Given the description of an element on the screen output the (x, y) to click on. 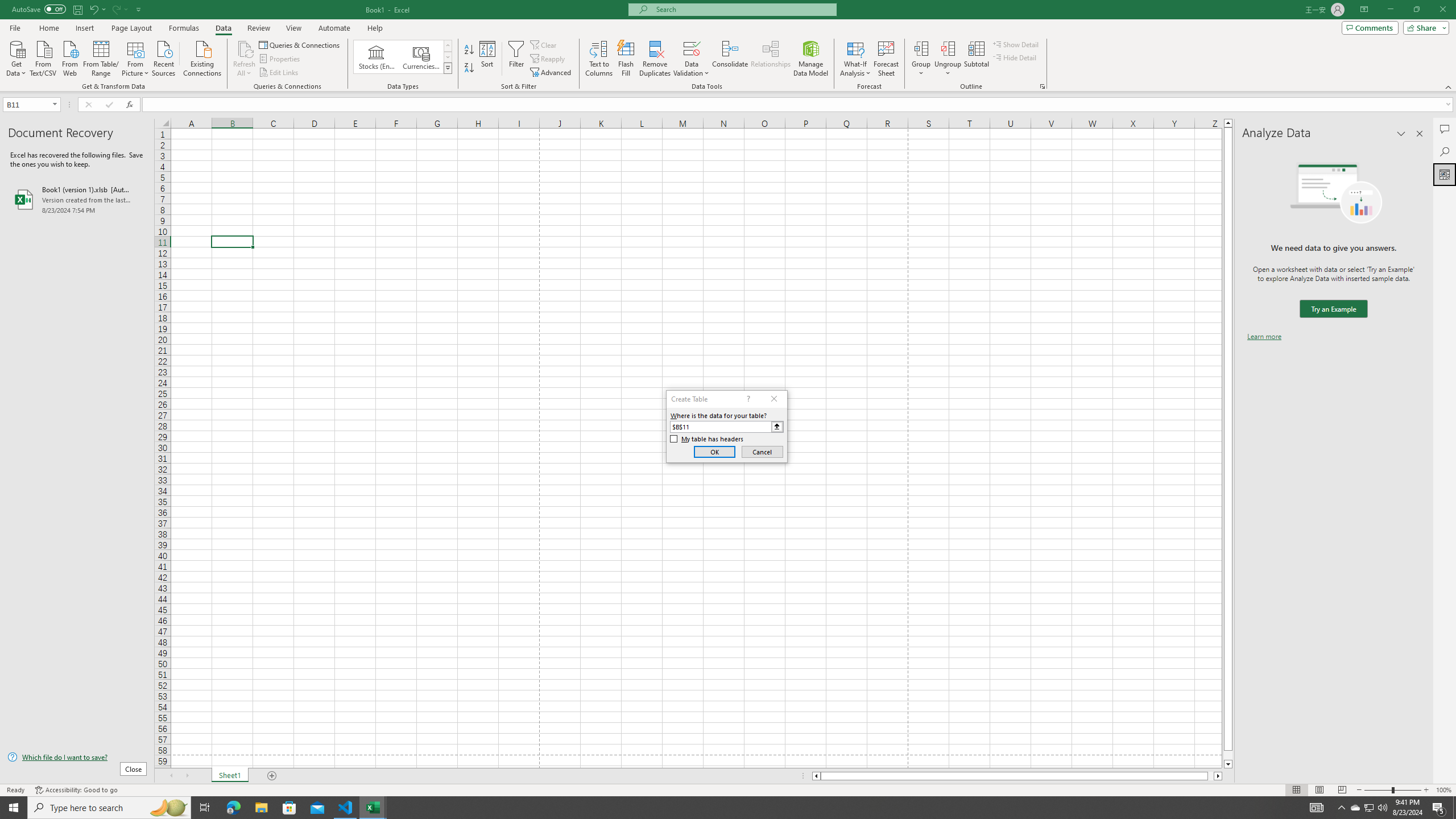
Stocks (English) (375, 56)
Filter (515, 58)
Search (1444, 151)
Remove Duplicates (654, 58)
Microsoft search (742, 9)
Data Validation... (691, 48)
Clear (544, 44)
What-If Analysis (855, 58)
Queries & Connections (300, 44)
Get Data (16, 57)
Automate (334, 28)
